Given the description of an element on the screen output the (x, y) to click on. 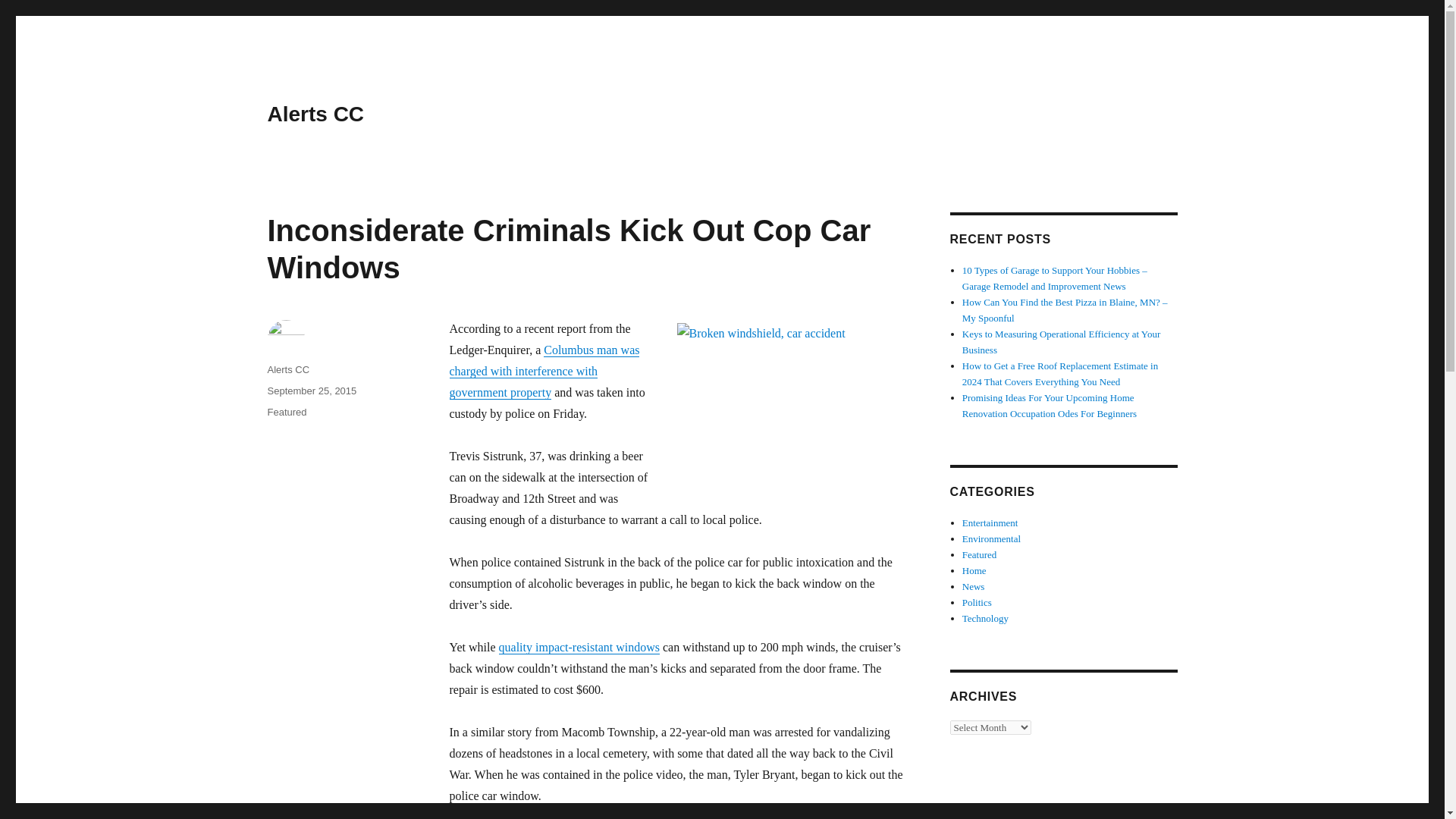
quality impact-resistant windows (579, 646)
Alerts CC (287, 369)
Technology (985, 618)
News (973, 586)
Entertainment (989, 522)
Alerts CC (315, 114)
Home (974, 570)
